Given the description of an element on the screen output the (x, y) to click on. 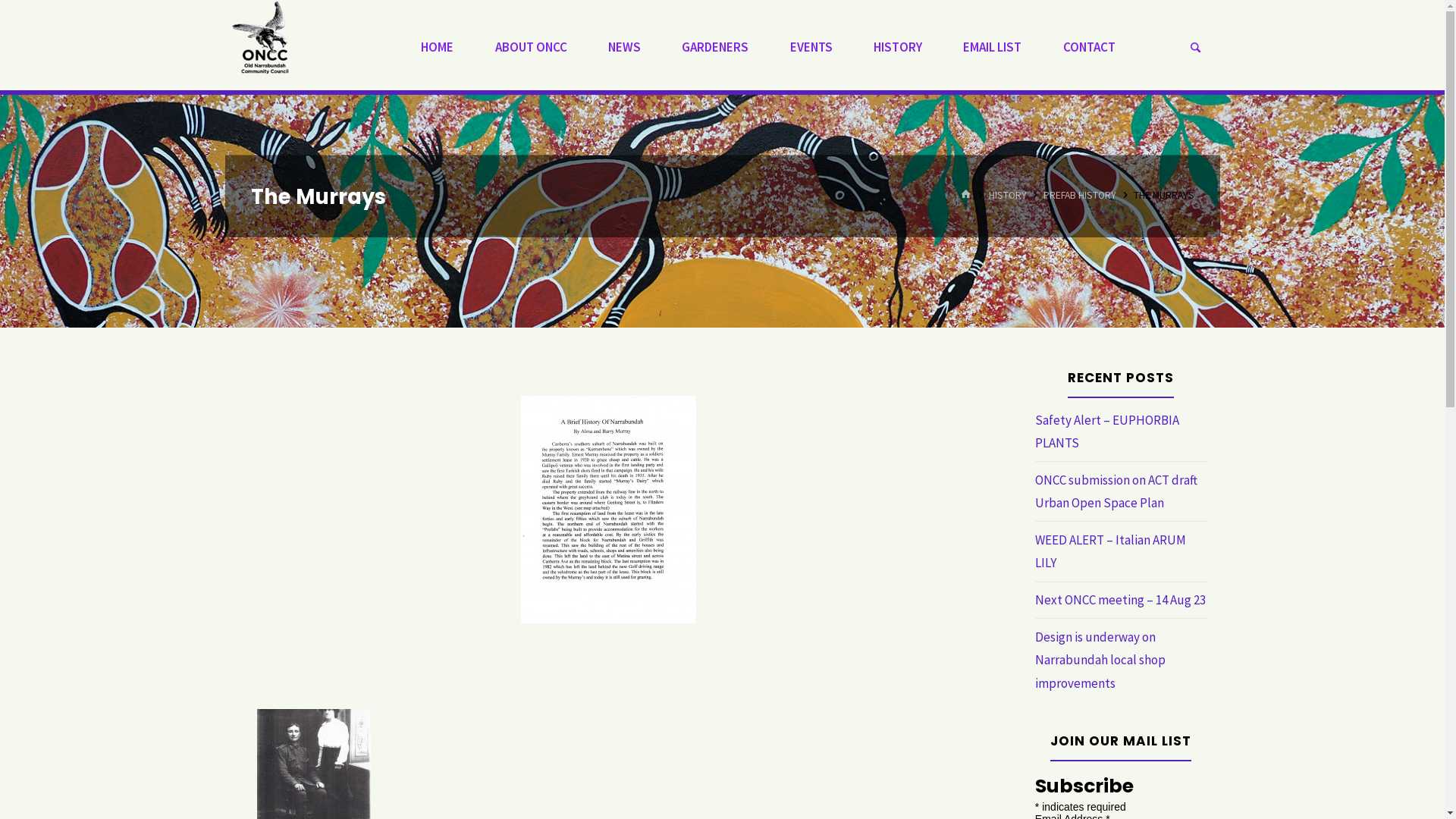
Design is underway on Narrabundah local shop improvements Element type: text (1100, 659)
SEARCH Element type: text (1195, 48)
CONTACT Element type: text (1088, 47)
HISTORY Element type: text (1007, 195)
EVENTS Element type: text (811, 47)
ABOUT ONCC Element type: text (529, 47)
GARDENERS Element type: text (714, 47)
EMAIL LIST Element type: text (991, 47)
PREFAB HISTORY Element type: text (1079, 195)
HOME Element type: text (436, 47)
ONCC submission on ACT draft Urban Open Space Plan Element type: text (1116, 491)
HOME Element type: text (965, 195)
Old Narrabundah Community Council Inc. Element type: hover (261, 36)
HISTORY Element type: text (897, 47)
NEWS Element type: text (624, 47)
